Given the description of an element on the screen output the (x, y) to click on. 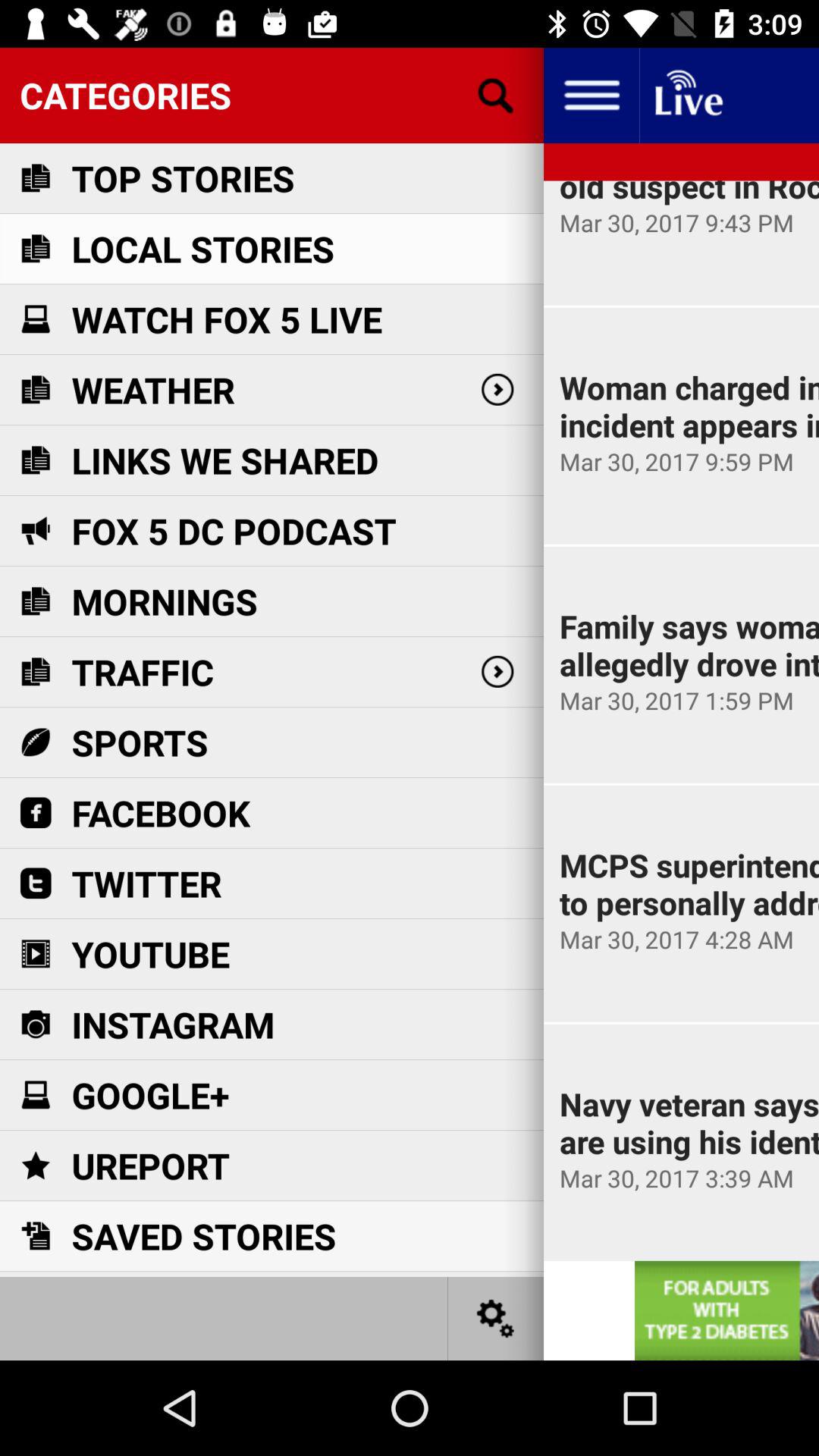
select live option (687, 95)
